Given the description of an element on the screen output the (x, y) to click on. 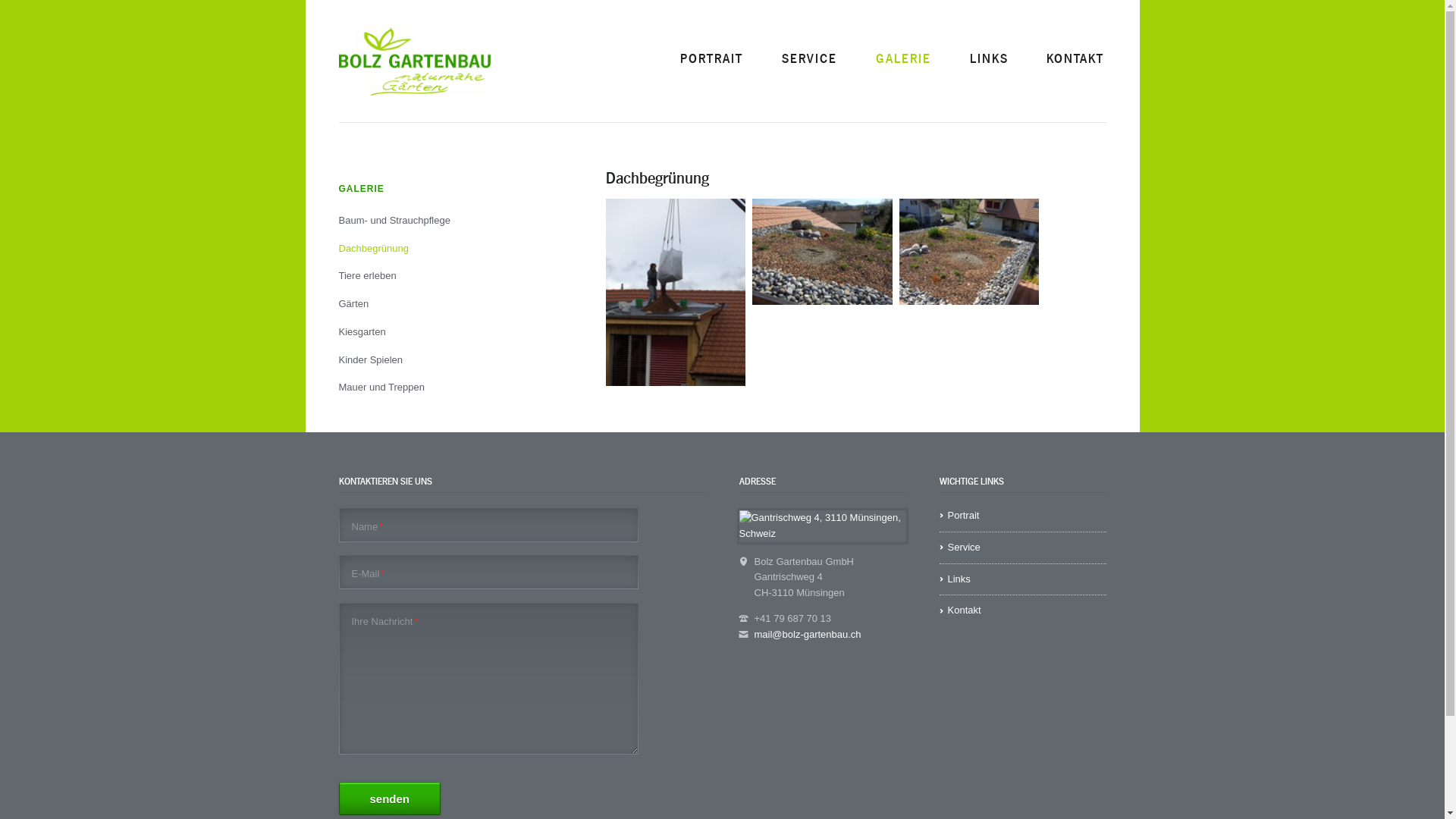
Service Element type: text (1021, 547)
  Element type: text (338, 401)
Kontakt Element type: text (1021, 610)
SERVICE Element type: text (809, 58)
senden Element type: text (389, 798)
Tiere erleben Element type: text (438, 276)
Kinder Spielen Element type: text (438, 360)
Mauer und Treppen Element type: text (438, 387)
Kiesgarten Element type: text (438, 332)
GALERIE Element type: text (438, 188)
LINKS Element type: text (988, 58)
Portrait Element type: text (1021, 515)
mail@bolz-gartenbau.ch Element type: text (806, 634)
Links Element type: text (1021, 579)
  Element type: text (1105, 41)
KONTAKT Element type: text (1075, 58)
PORTRAIT Element type: text (711, 58)
GALERIE Element type: text (902, 58)
Baum- und Strauchpflege Element type: text (438, 221)
